Given the description of an element on the screen output the (x, y) to click on. 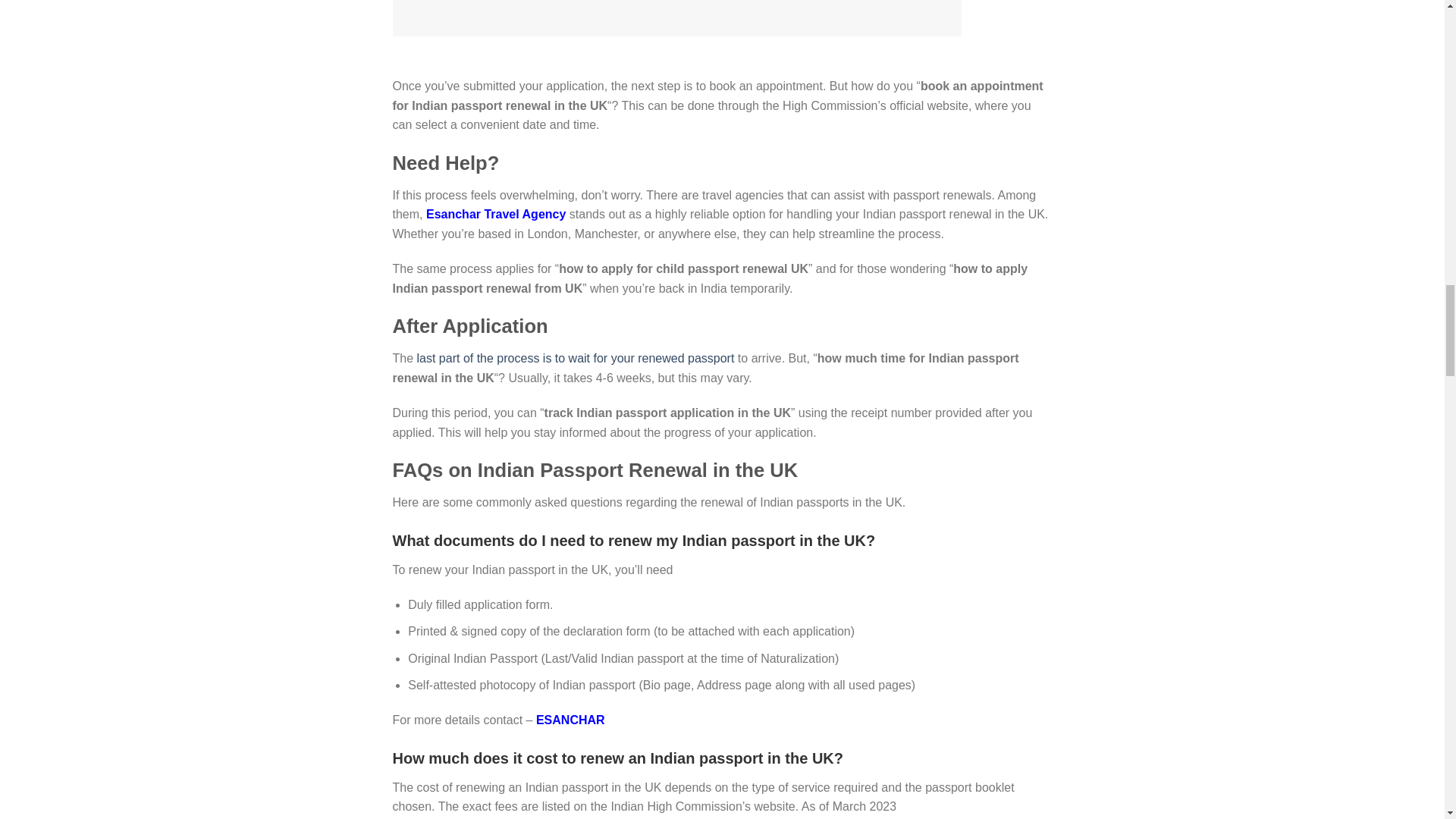
ESANCHAR (570, 719)
Esanchar Travel Agency (496, 214)
